Given the description of an element on the screen output the (x, y) to click on. 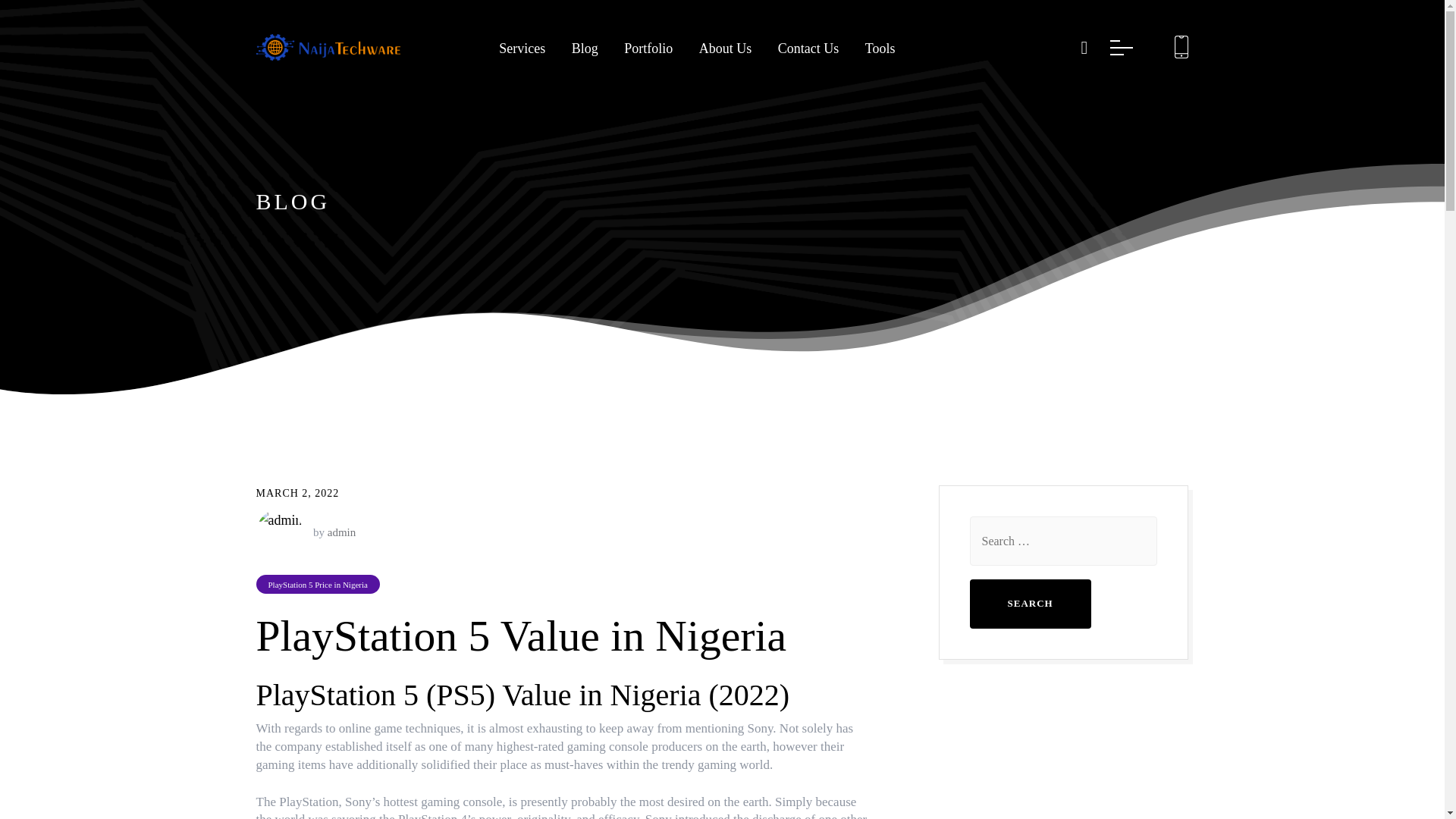
Services (521, 48)
About Us (725, 48)
Services (521, 48)
Blog (585, 48)
Portfolio (648, 48)
Search (1029, 603)
Contact Us (808, 48)
Tools (879, 48)
About Us (725, 48)
Contact Us (808, 48)
PlayStation 5 Price in Nigeria (318, 583)
Tools (879, 48)
SEARCH (721, 451)
Portfolio (648, 48)
Search (1029, 603)
